Given the description of an element on the screen output the (x, y) to click on. 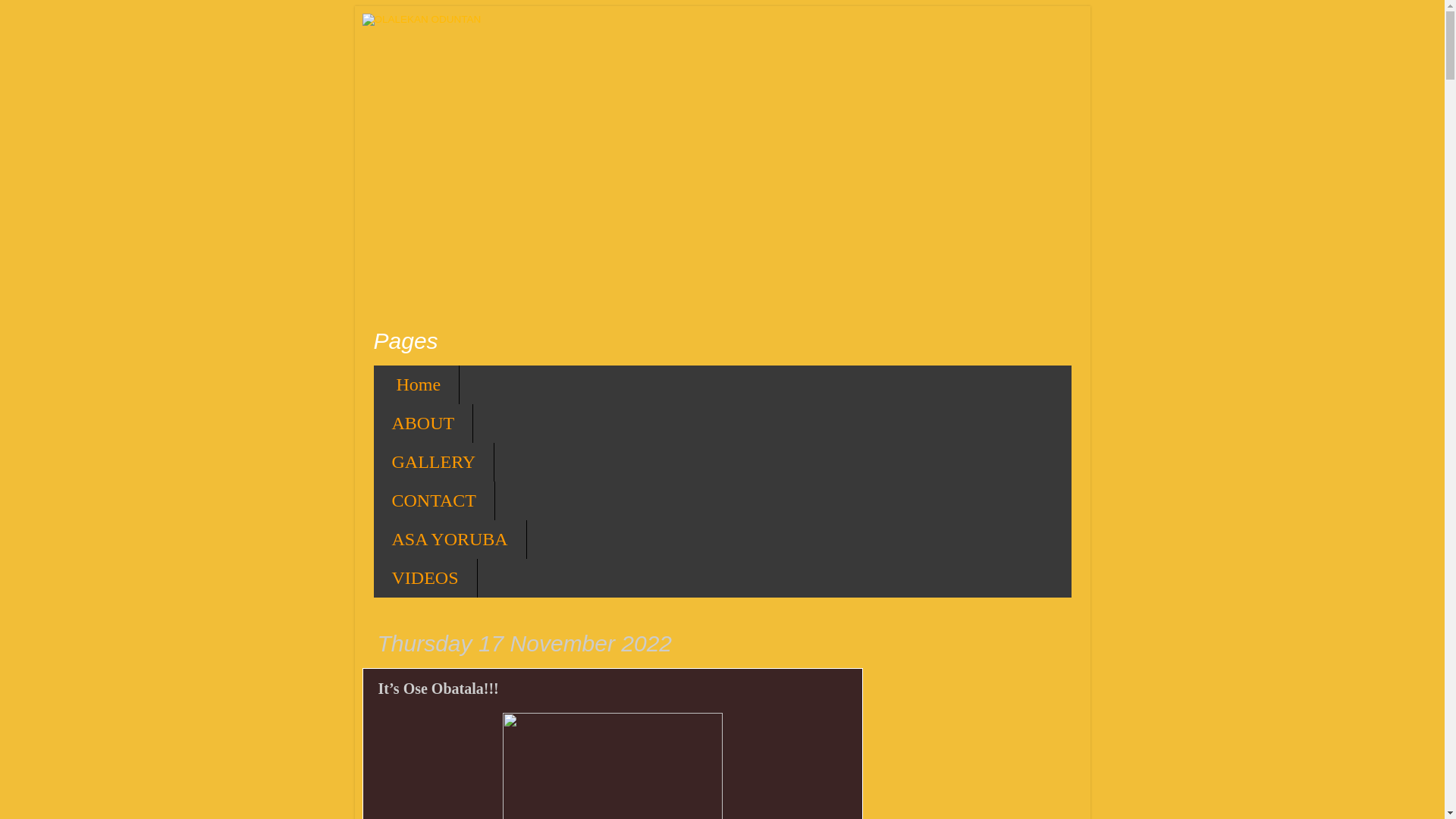
VIDEOS (424, 577)
ASA YORUBA (448, 539)
ABOUT (422, 423)
GALLERY (433, 462)
Home (416, 384)
CONTACT (433, 500)
